Given the description of an element on the screen output the (x, y) to click on. 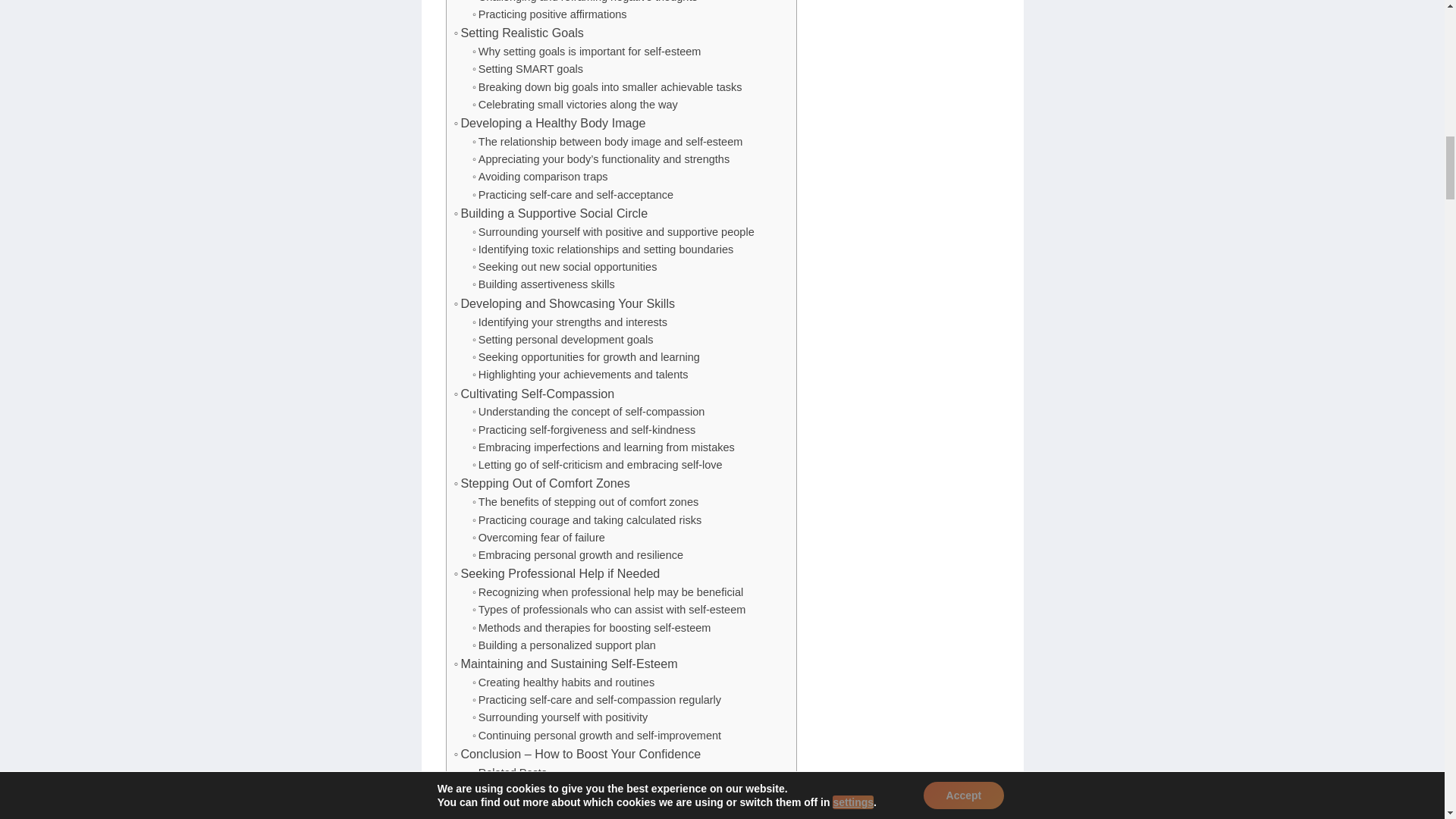
Why setting goals is important for self-esteem (586, 51)
Setting Realistic Goals (517, 33)
Identifying your strengths and interests (568, 322)
Setting SMART goals (527, 68)
Practicing self-care and self-acceptance (571, 194)
Practicing positive affirmations (549, 14)
Surrounding yourself with positive and supportive people (612, 231)
Breaking down big goals into smaller achievable tasks (606, 87)
Practicing positive affirmations (549, 14)
Challenging and reframing negative thoughts (584, 2)
Celebrating small victories along the way (574, 104)
Breaking down big goals into smaller achievable tasks (606, 87)
Developing and Showcasing Your Skills (563, 303)
Setting SMART goals (527, 68)
The relationship between body image and self-esteem (606, 141)
